Given the description of an element on the screen output the (x, y) to click on. 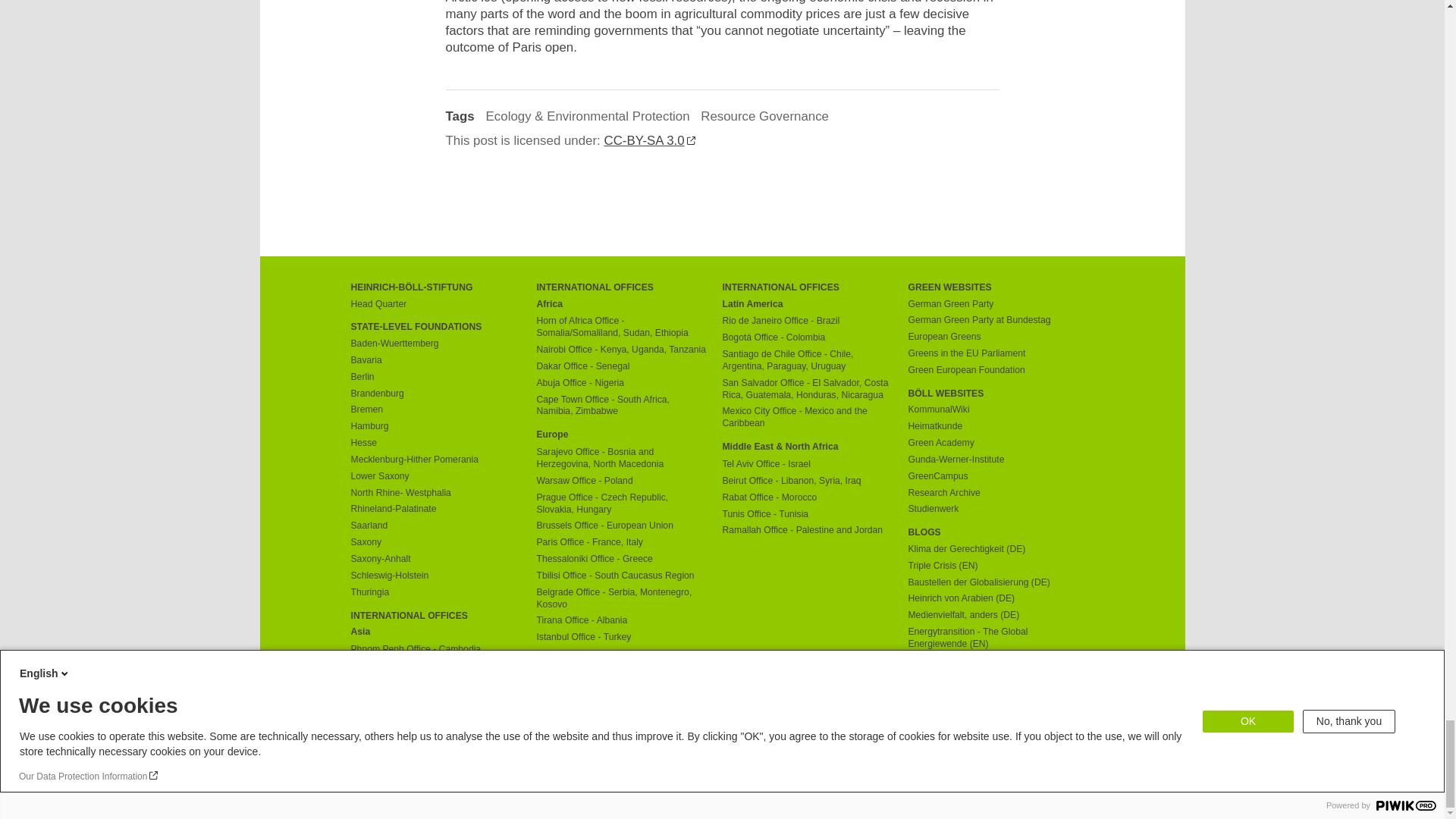
Resource Governance (764, 115)
